Given the description of an element on the screen output the (x, y) to click on. 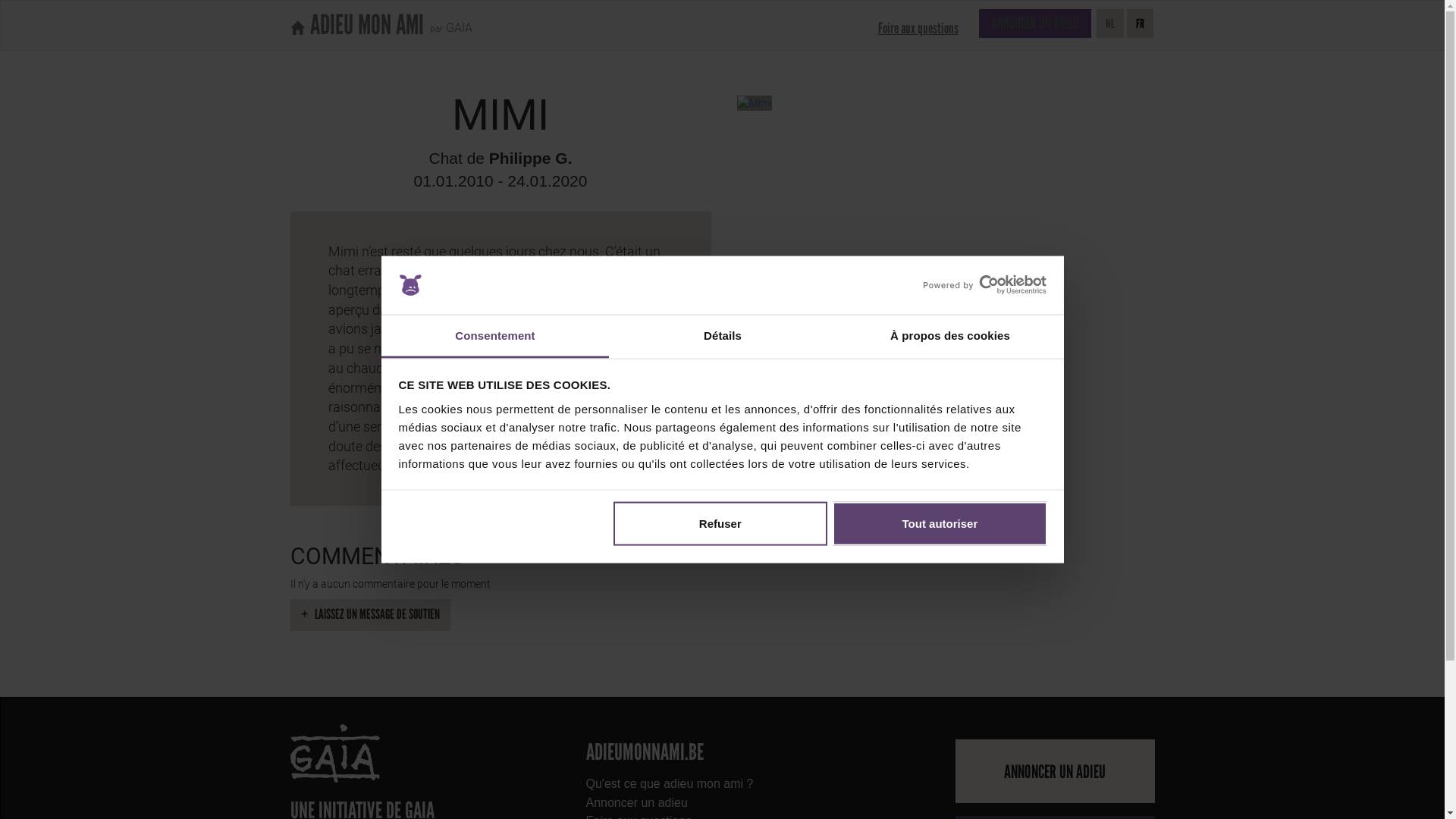
FR Element type: text (1139, 23)
ADIEU MON AMI Element type: text (357, 24)
NL Element type: text (1109, 23)
Refuser Element type: text (719, 524)
ANNONCER UN ADIEU Element type: text (1034, 23)
Consentement Element type: text (494, 335)
ANNONCER UN ADIEU Element type: text (1054, 771)
Qu'est ce que adieu mon ami ? Element type: text (721, 784)
par GAIA Element type: text (447, 22)
+   LAISSEZ UN MESSAGE DE SOUTIEN Element type: text (369, 614)
Foire aux questions Element type: text (917, 28)
Tout autoriser Element type: text (939, 524)
Annoncer un adieu Element type: text (721, 803)
